Given the description of an element on the screen output the (x, y) to click on. 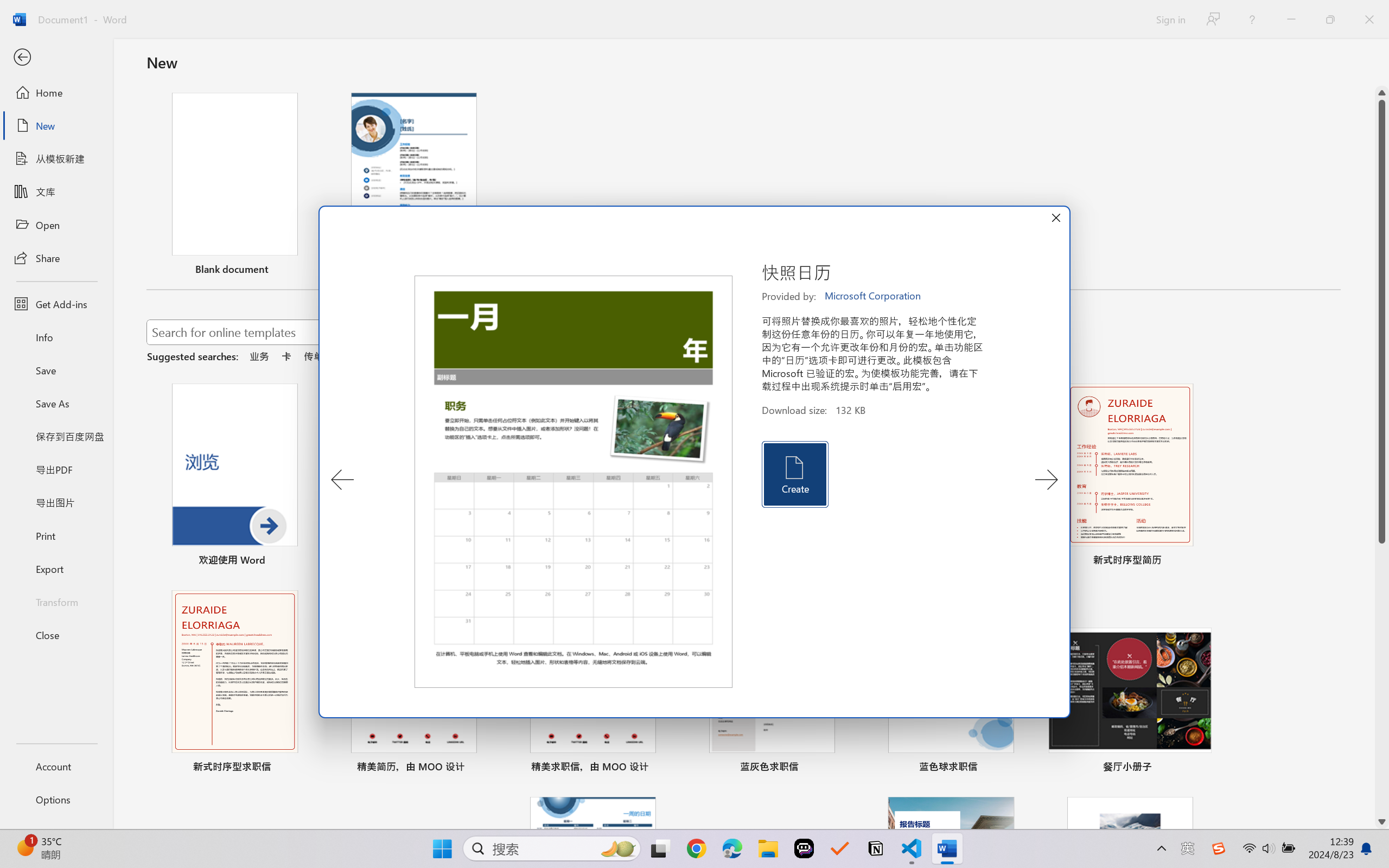
Save As (56, 403)
Info (56, 337)
Export (56, 568)
New (56, 125)
Get Add-ins (56, 303)
